Given the description of an element on the screen output the (x, y) to click on. 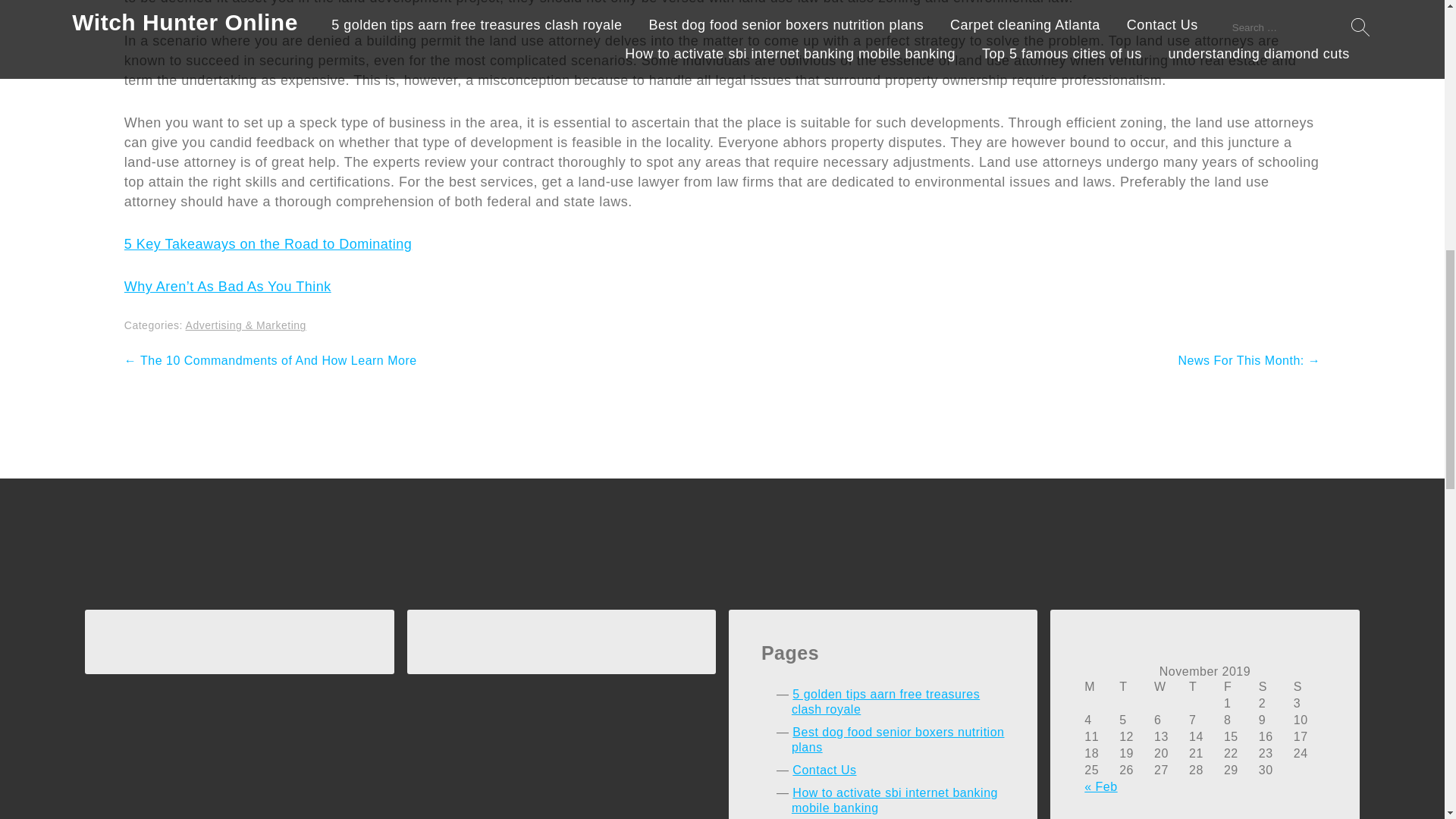
Tuesday (1135, 686)
Sunday (1309, 686)
Friday (1240, 686)
Thursday (1205, 686)
Best dog food senior boxers nutrition plans (898, 739)
Saturday (1274, 686)
5 golden tips aarn free treasures clash royale (885, 701)
5 Key Takeaways on the Road to Dominating (267, 243)
How to activate sbi internet banking mobile banking (894, 800)
Wednesday (1170, 686)
